Given the description of an element on the screen output the (x, y) to click on. 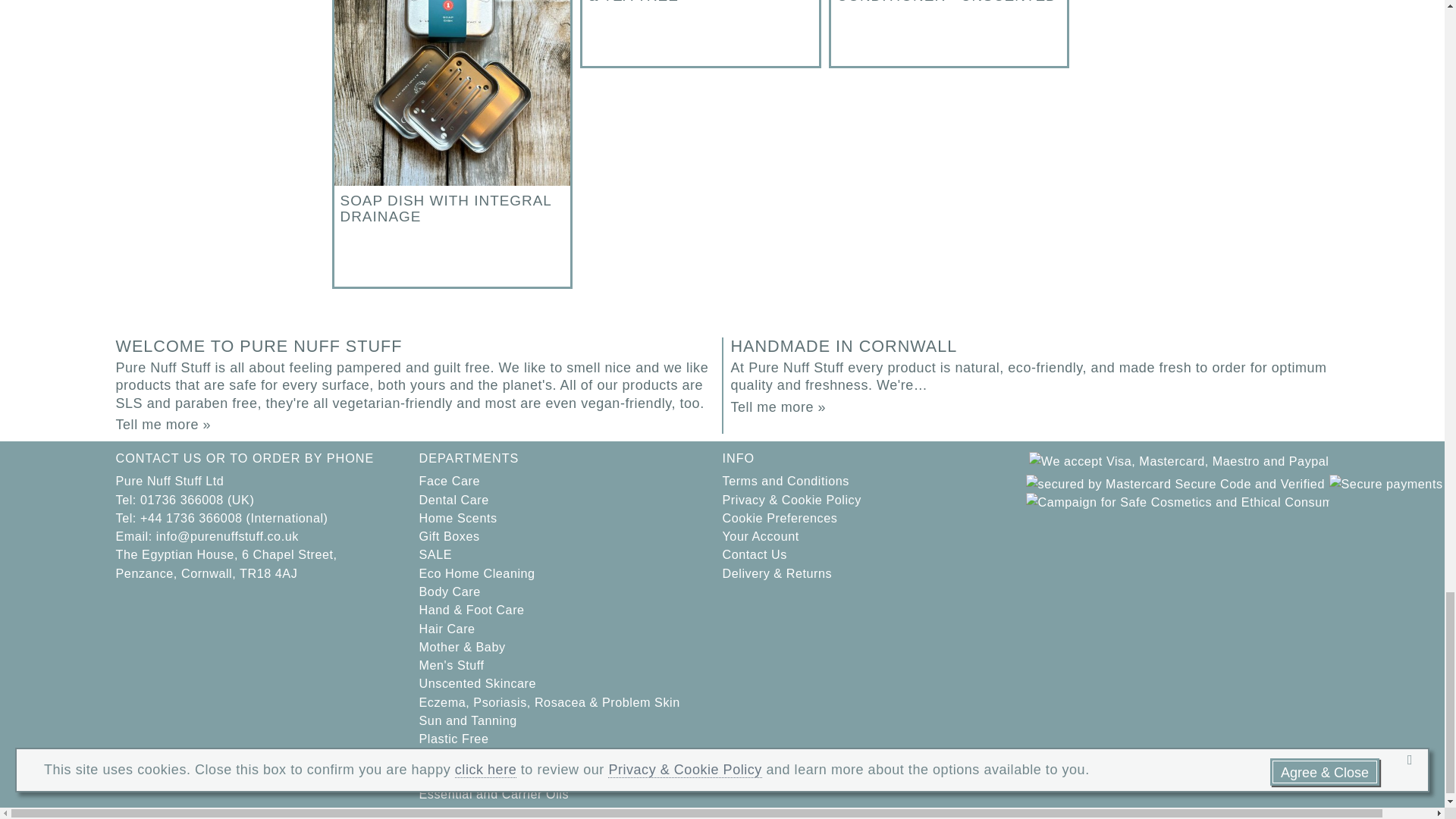
Handmade in Cornwall (778, 406)
Intensive Hair Conditioner - Unscented (949, 33)
About Us (163, 424)
